Given the description of an element on the screen output the (x, y) to click on. 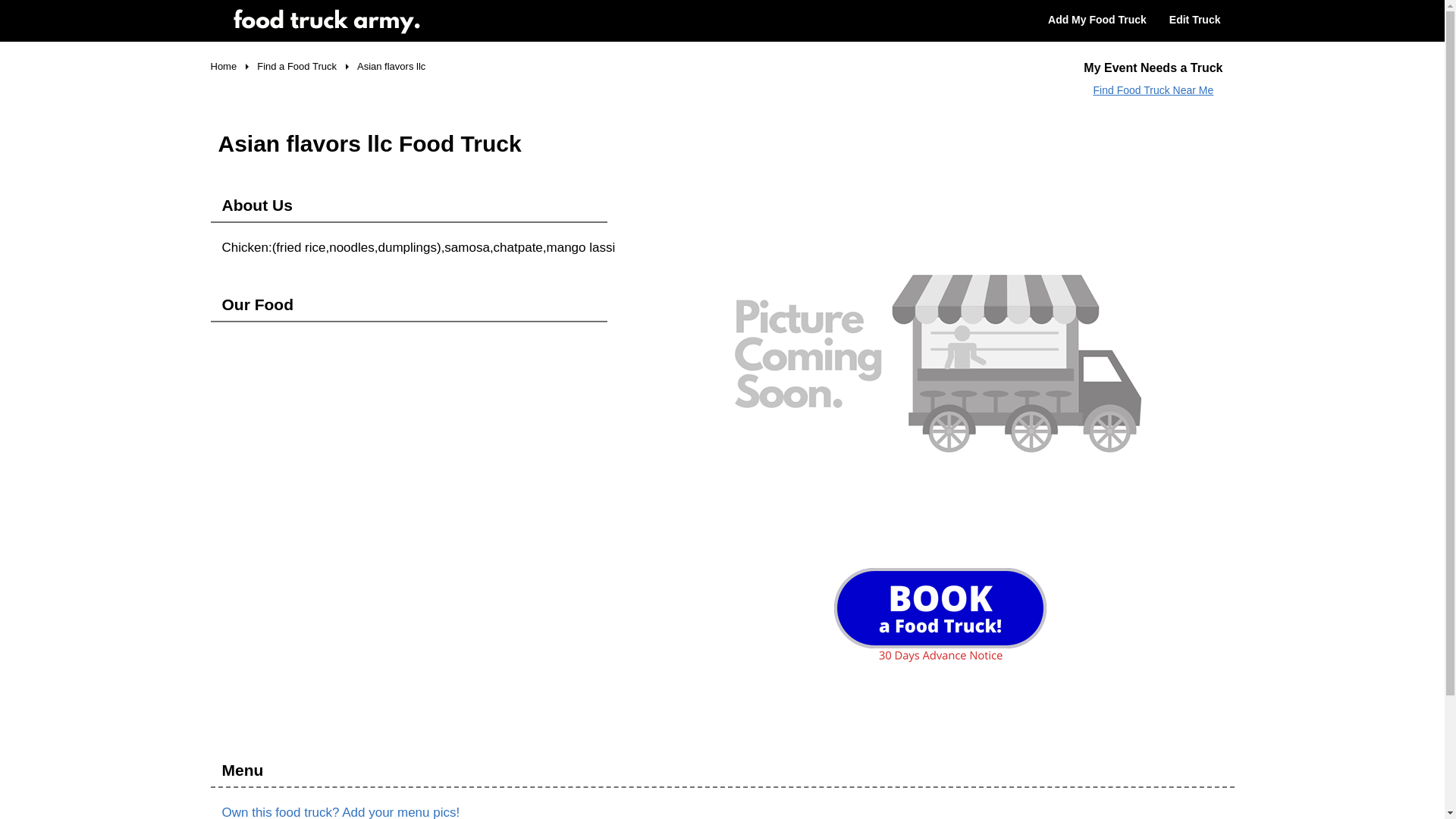
Find a Food Truck (296, 66)
My Event Needs a Truck (1153, 67)
Asian flavors llc (390, 66)
Find Food Truck Near Me (1153, 90)
Own this food truck? Add your menu pics! (340, 812)
Add My Food Truck (1097, 19)
Edit Truck (1195, 19)
Home (224, 66)
